Given the description of an element on the screen output the (x, y) to click on. 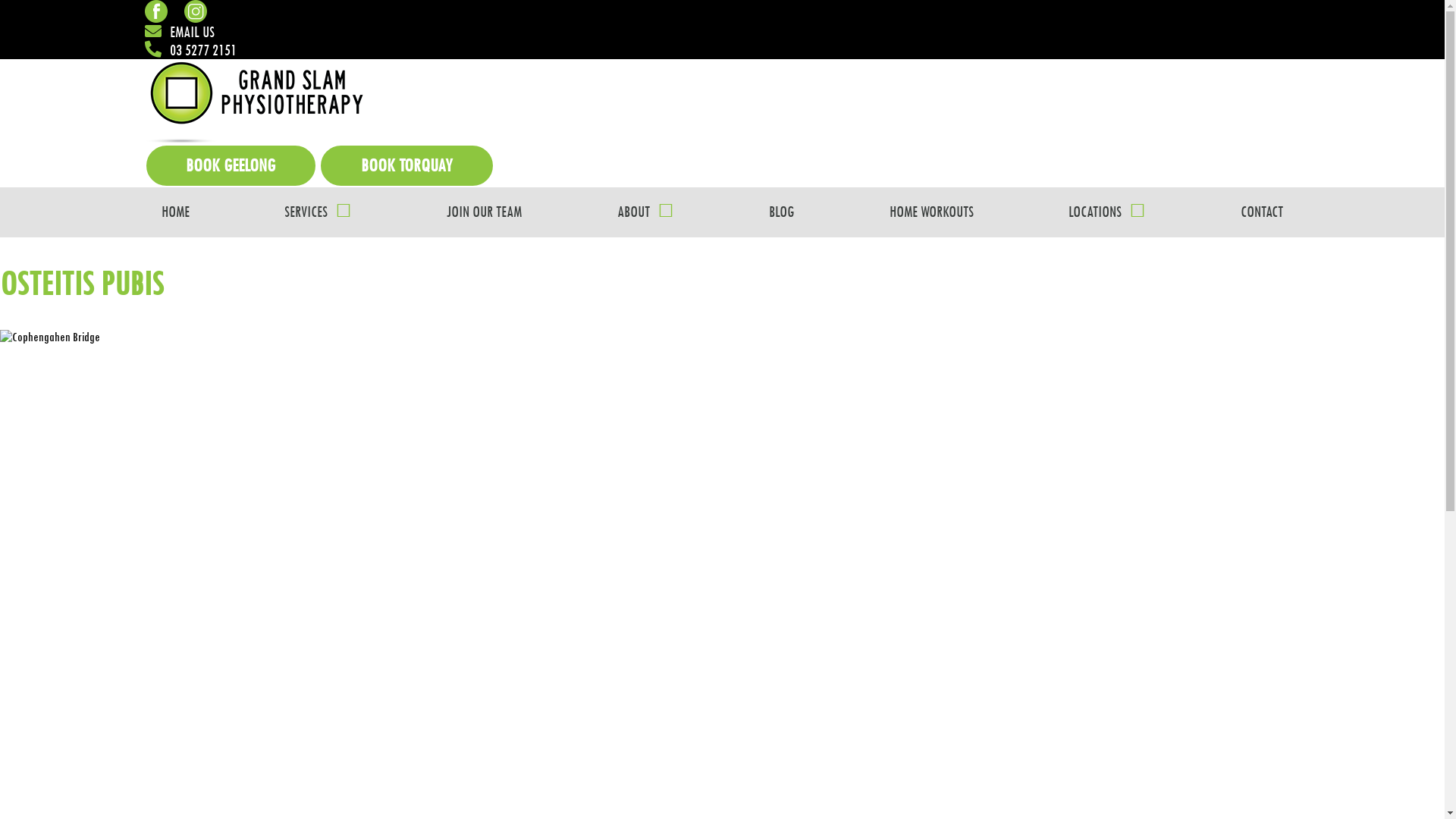
BOOK GEELONG Element type: text (230, 165)
03 5277 2151 Element type: text (189, 50)
LOCATIONS Element type: text (1106, 212)
EMAIL US Element type: text (178, 31)
JOIN OUR TEAM Element type: text (483, 212)
BLOG Element type: text (781, 212)
HOME WORKOUTS Element type: text (931, 212)
SERVICES Element type: text (317, 212)
BOOK TORQUAY Element type: text (406, 165)
ABOUT Element type: text (645, 212)
CONTACT Element type: text (1261, 212)
HOME Element type: text (174, 212)
